Given the description of an element on the screen output the (x, y) to click on. 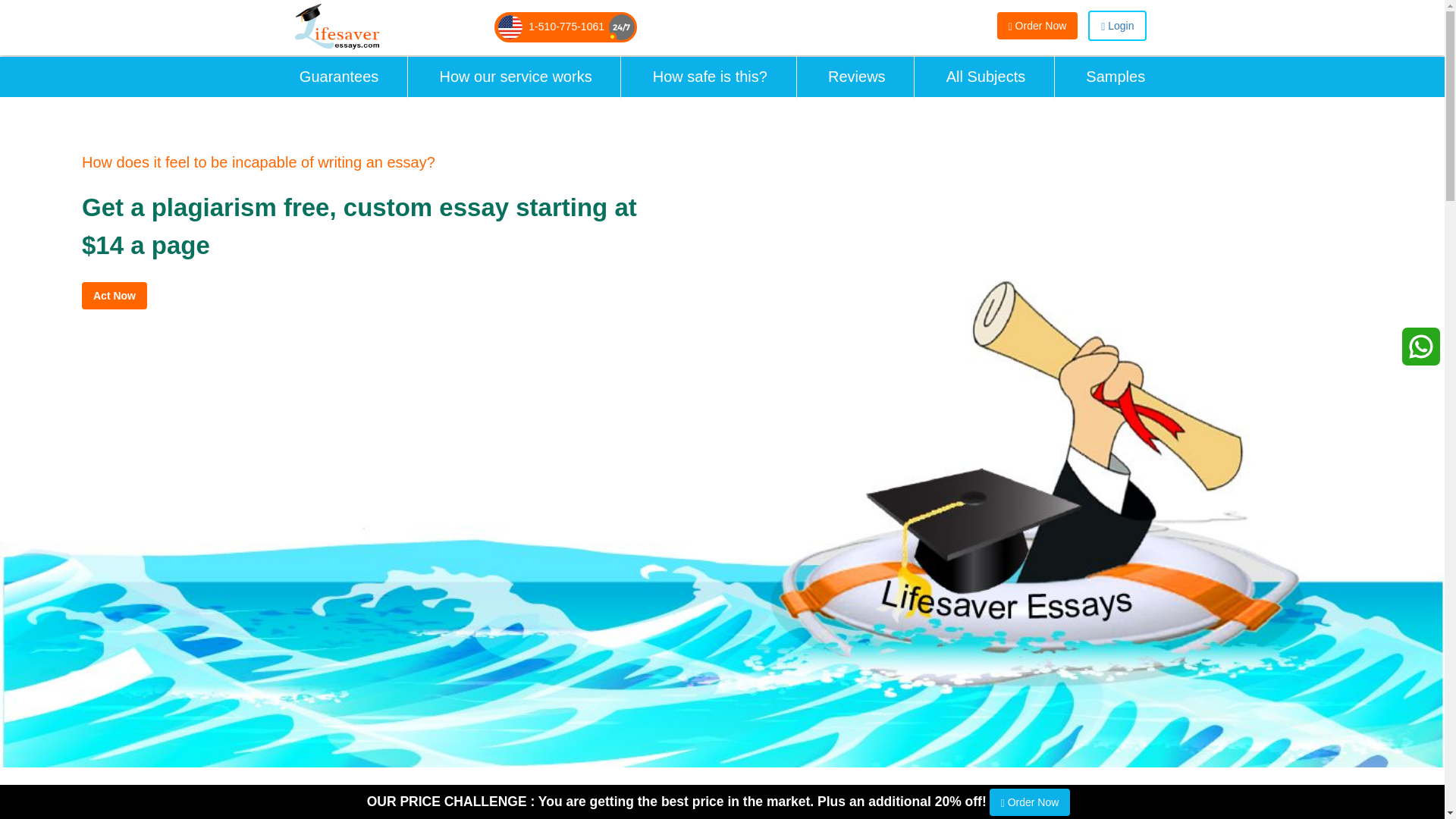
Login (1117, 25)
Reviews (856, 76)
Act Now (114, 295)
Order Now (1037, 25)
1-510-775-1061 (566, 26)
How safe is this? (710, 76)
How our service works (515, 76)
All Subjects (985, 76)
Samples (1115, 76)
Guarantees (338, 76)
